Given the description of an element on the screen output the (x, y) to click on. 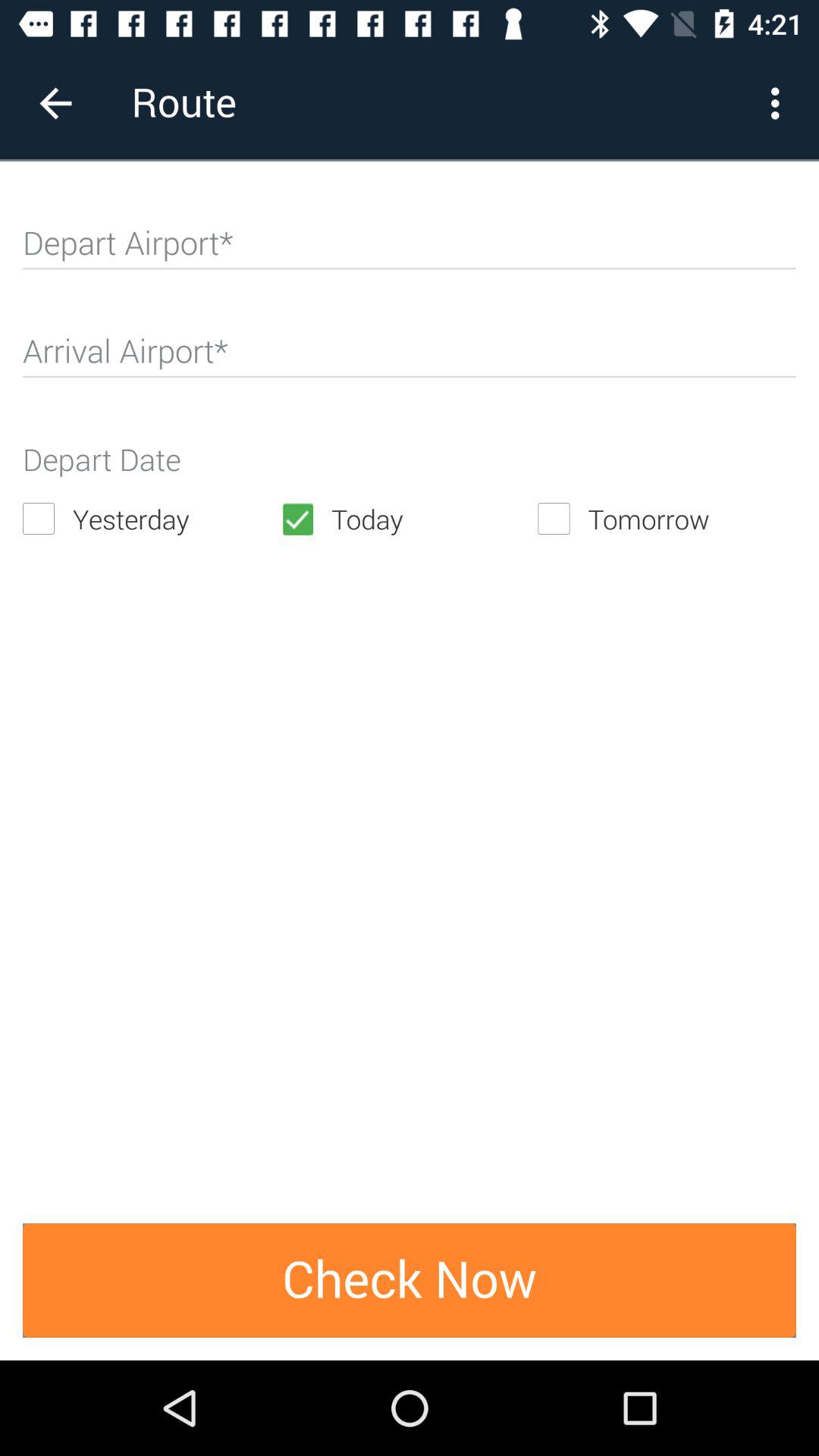
input the arrival airport (409, 357)
